Given the description of an element on the screen output the (x, y) to click on. 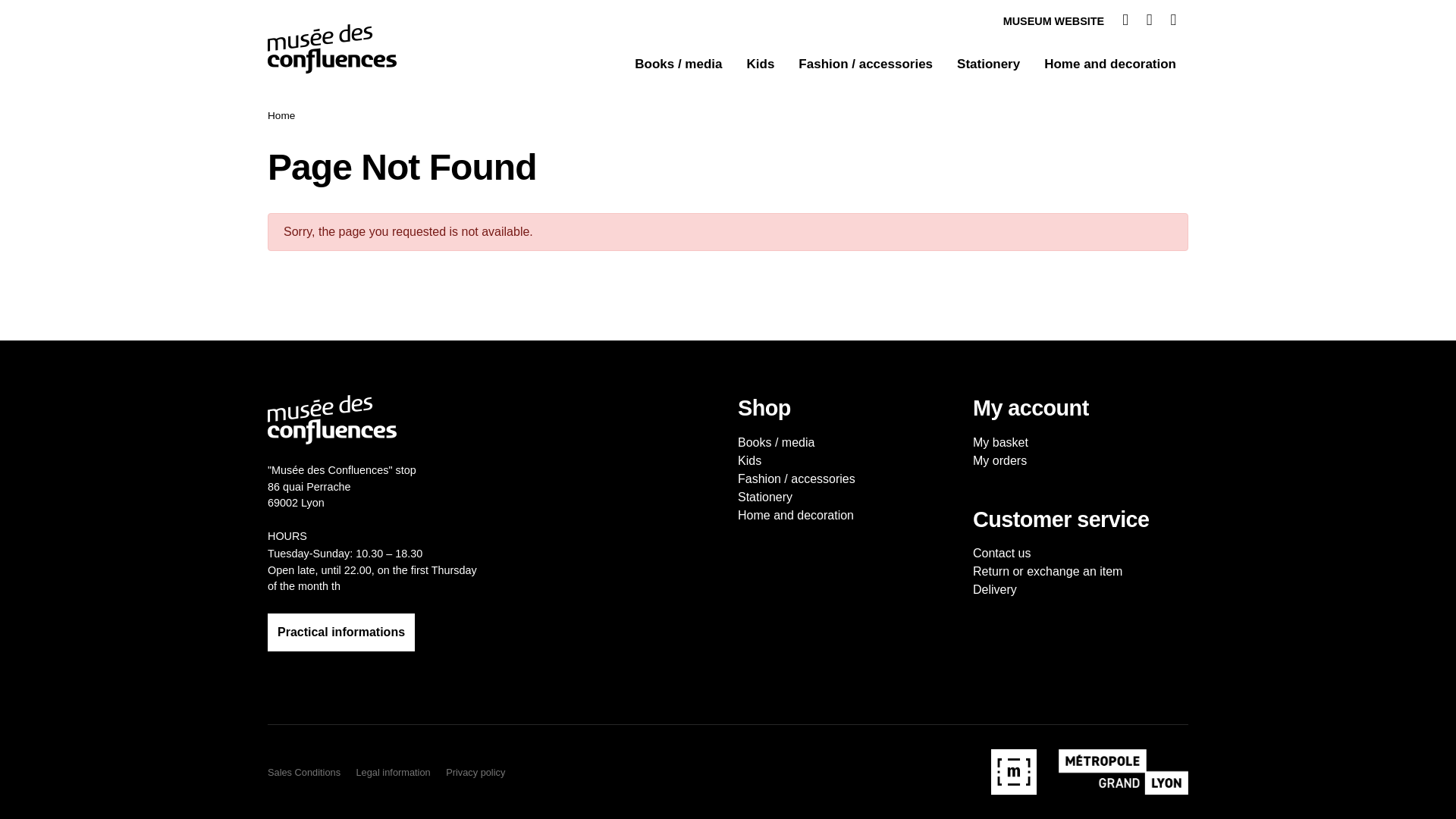
MUSEUM WEBSITE (1054, 21)
Stationery (988, 64)
Practical informations (340, 632)
Home and decoration (1110, 64)
Kids (759, 64)
Grand Lyon (1114, 771)
Home (281, 115)
Kids (749, 460)
Your account (1115, 21)
